Given the description of an element on the screen output the (x, y) to click on. 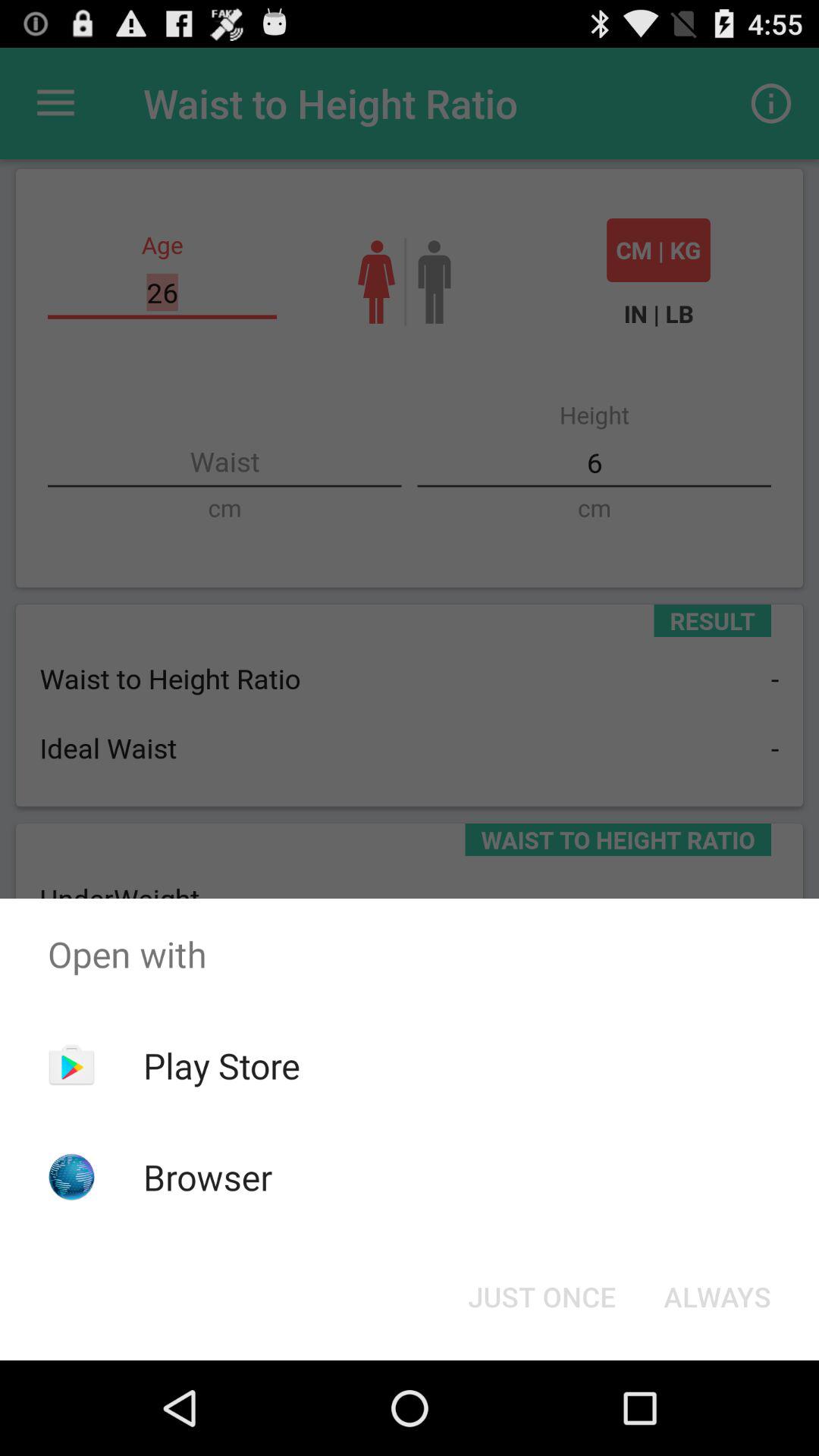
click item next to the always button (541, 1296)
